Given the description of an element on the screen output the (x, y) to click on. 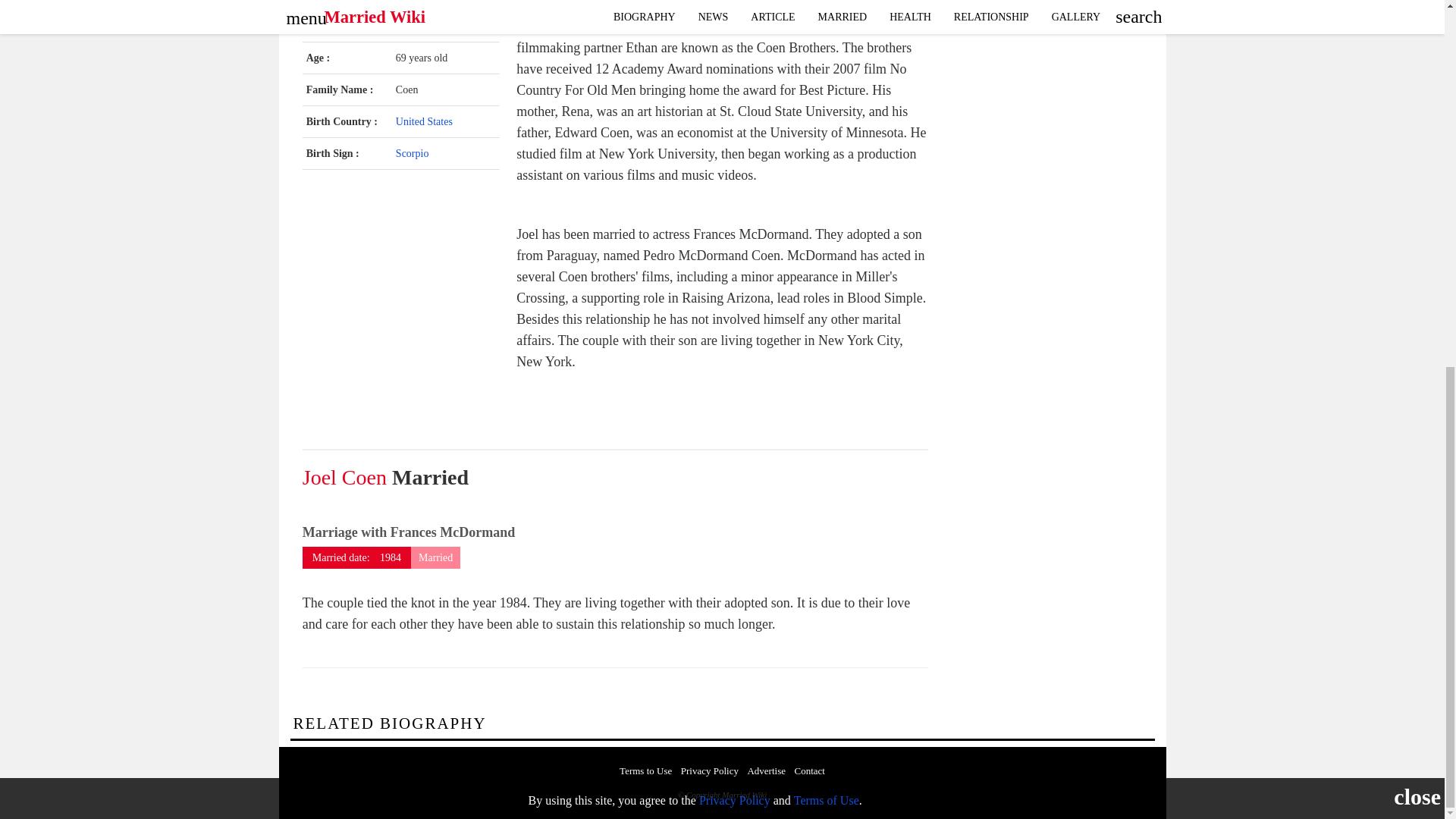
November 29 (426, 25)
Scorpio (412, 153)
Terms of Use (826, 139)
1954 (472, 25)
Privacy Policy (734, 139)
United States (424, 121)
